Given the description of an element on the screen output the (x, y) to click on. 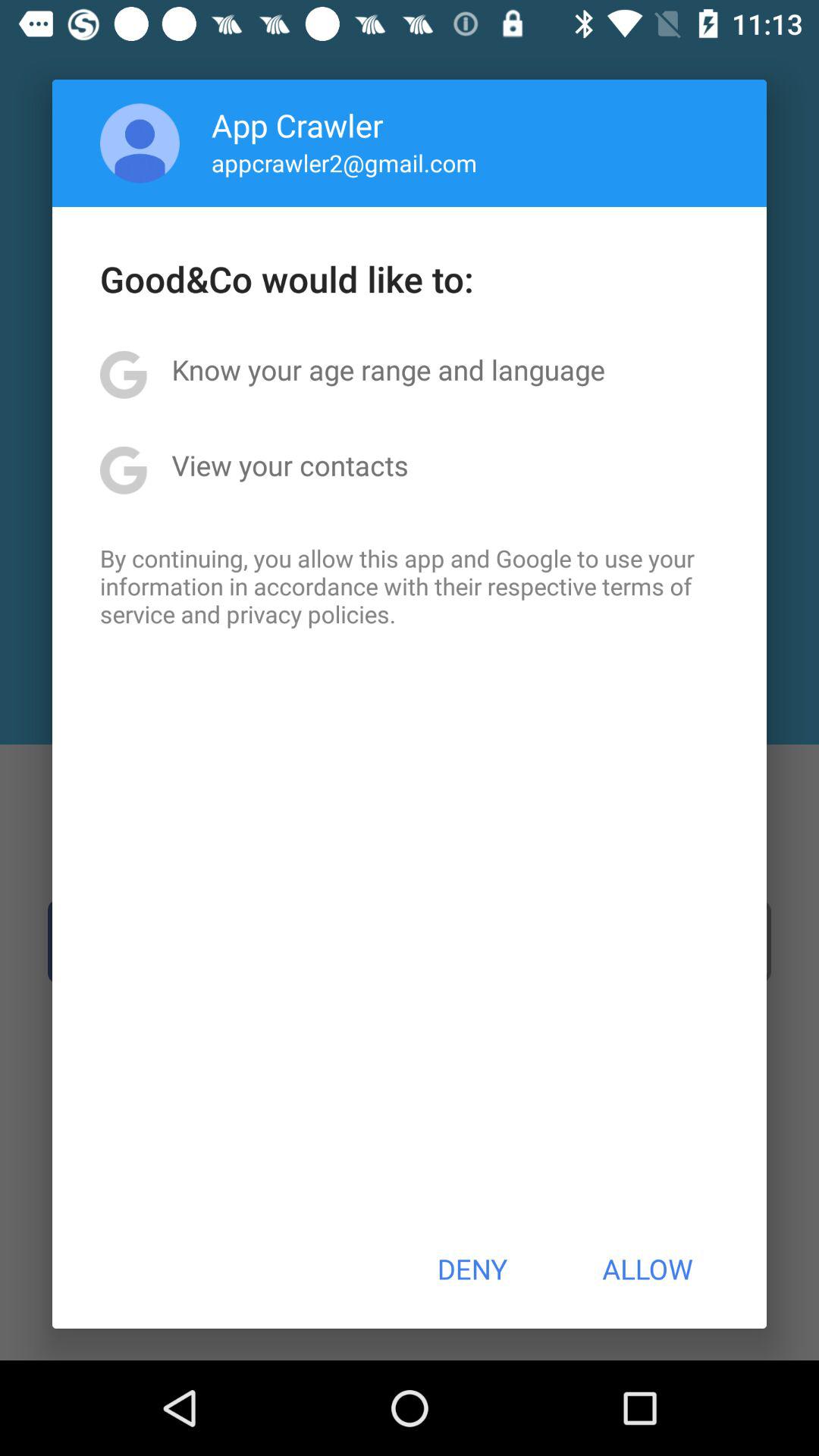
select app crawler icon (297, 124)
